Given the description of an element on the screen output the (x, y) to click on. 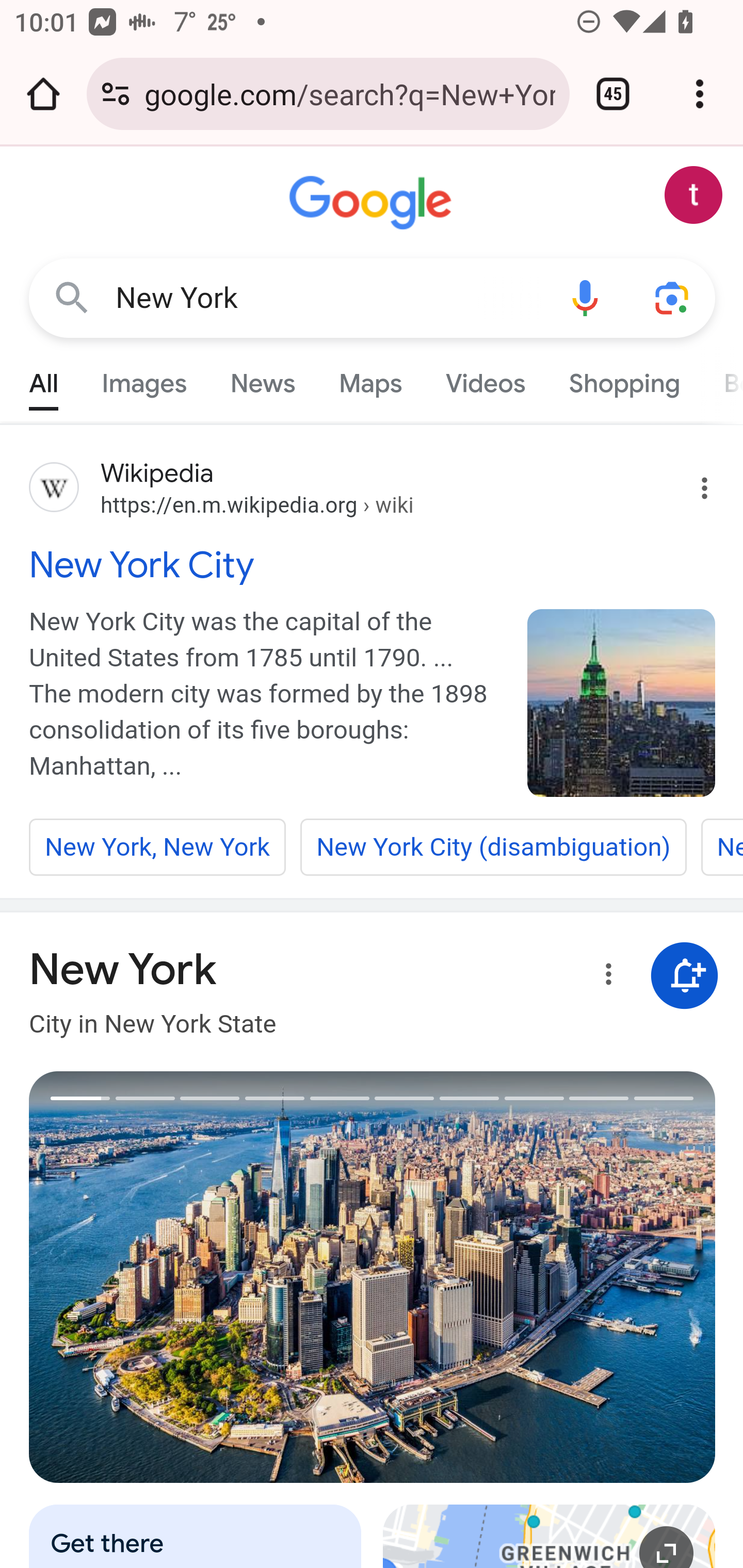
Open the home page (43, 93)
Connection is secure (115, 93)
Switch or close tabs (612, 93)
Customize and control Google Chrome (699, 93)
Google (372, 203)
Google Search (71, 296)
Search using your camera or photos (672, 296)
New York (328, 297)
Images (144, 378)
News (262, 378)
Maps (369, 378)
Videos (485, 378)
Shopping (623, 378)
New York City (372, 564)
New_York_City (621, 703)
New York, New York (157, 847)
New York City (disambiguation) (493, 847)
Get notifications about New York (684, 976)
More options (605, 976)
Previous image (200, 1276)
Next image (544, 1276)
Expand map (549, 1535)
